Given the description of an element on the screen output the (x, y) to click on. 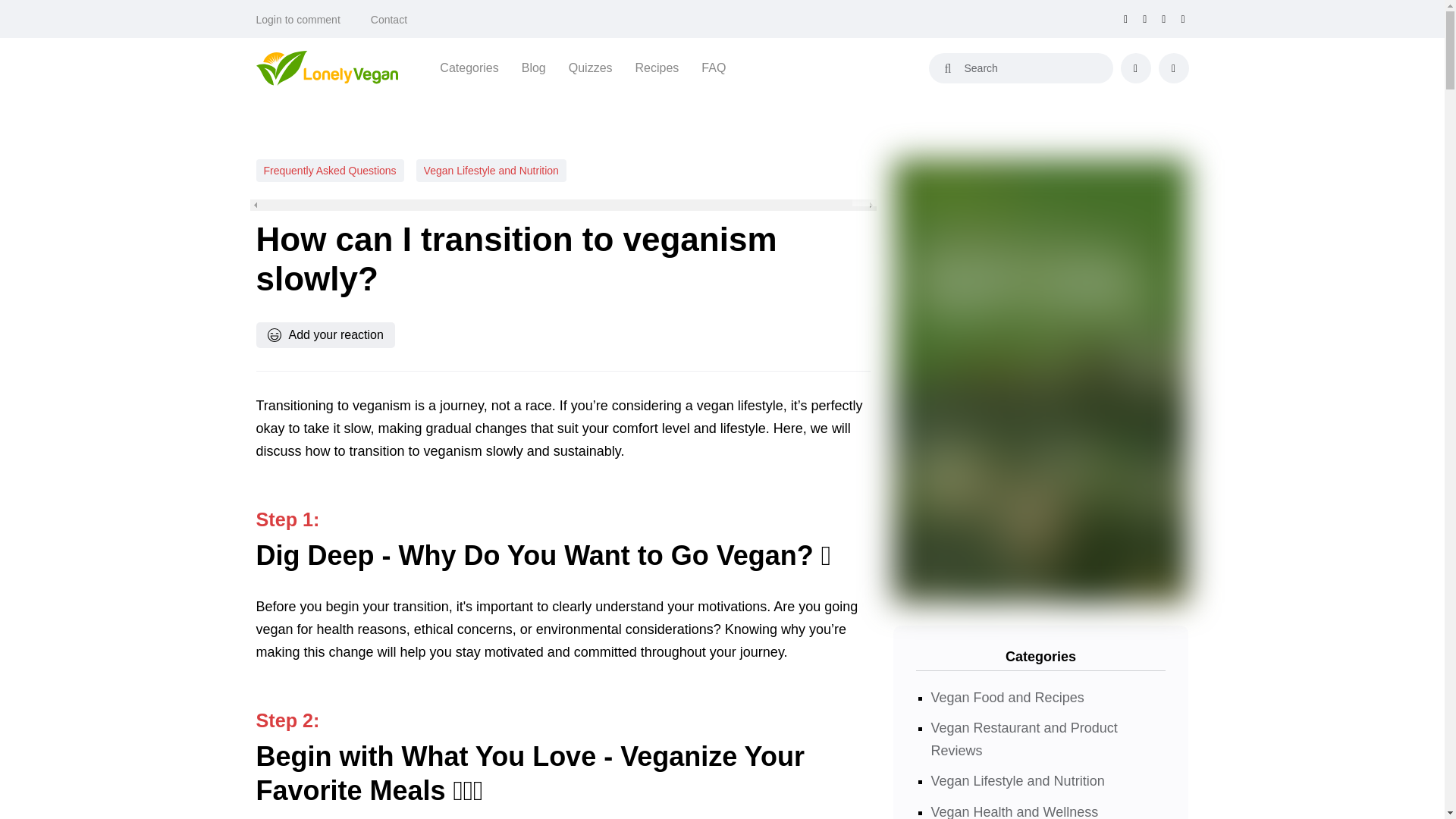
Contact (389, 19)
Login to comment (298, 19)
Categories (468, 67)
